Given the description of an element on the screen output the (x, y) to click on. 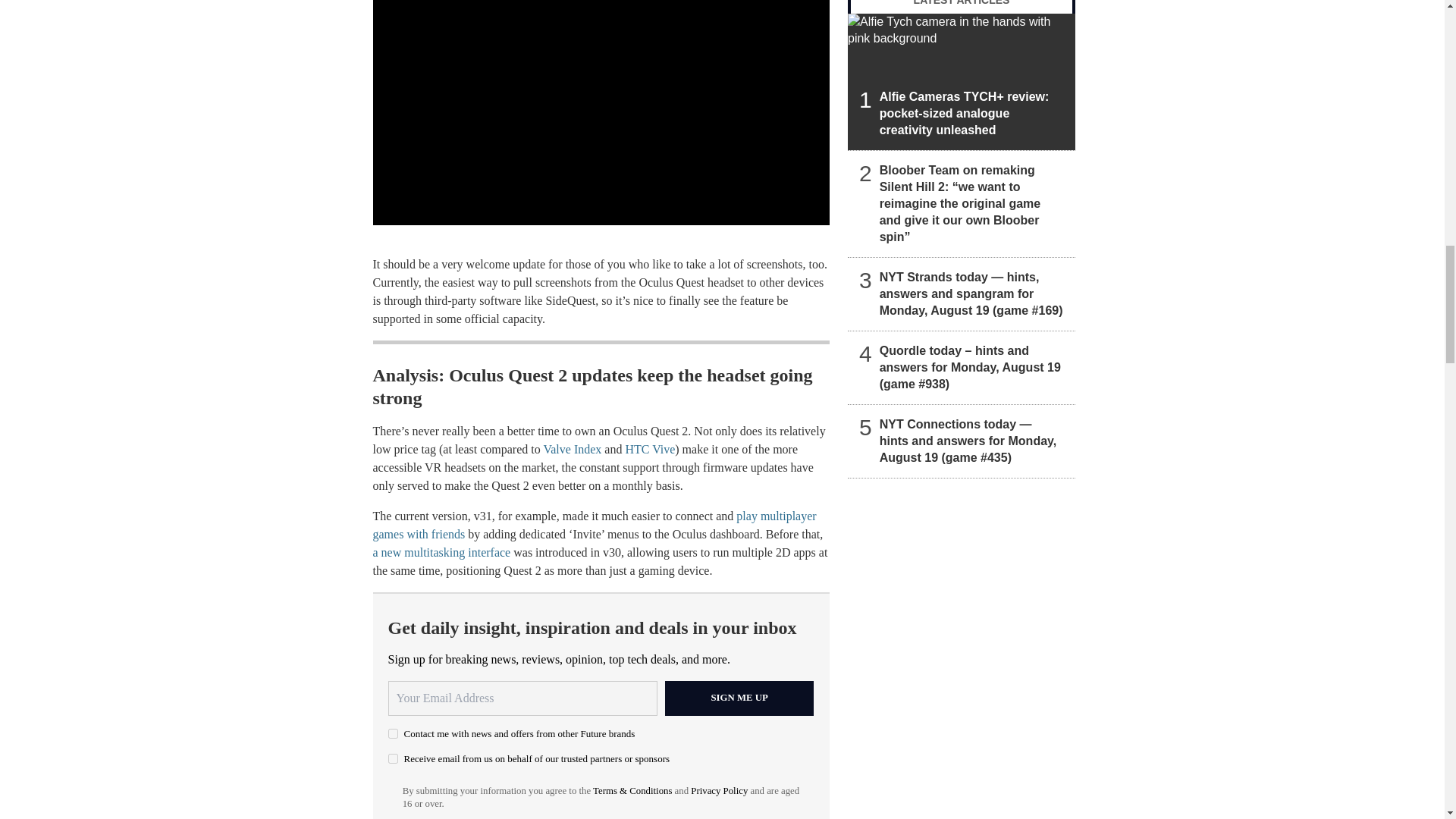
on (392, 758)
Sign me up (739, 697)
on (392, 733)
